Given the description of an element on the screen output the (x, y) to click on. 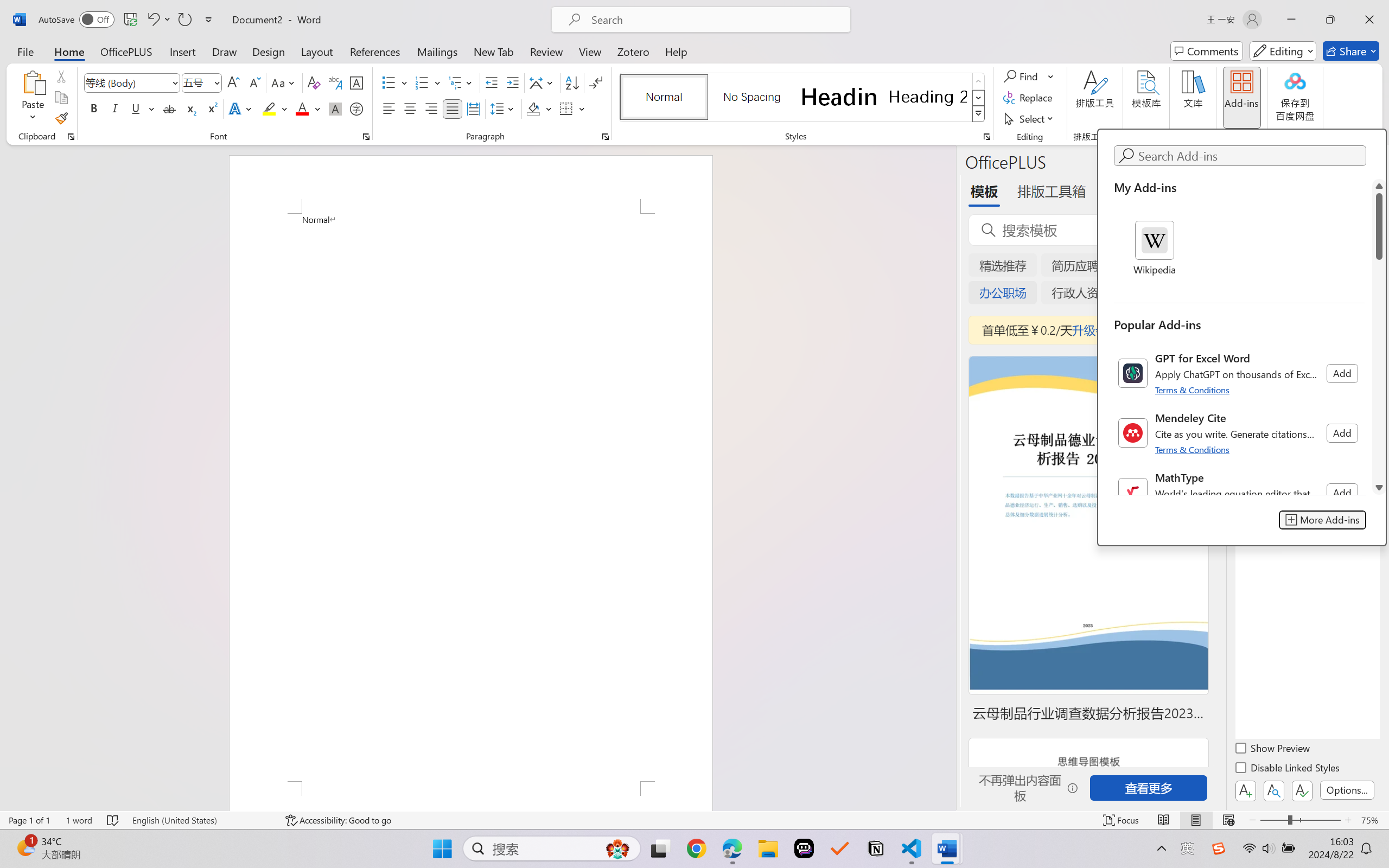
Save (130, 19)
Home (69, 51)
Read Mode (1163, 819)
Restore Down (1330, 19)
Notion (875, 848)
Styles (978, 113)
Close (1369, 19)
Enclose Characters... (356, 108)
Mendeley Cite (1239, 432)
Zotero (632, 51)
Office Clipboard... (70, 136)
Draw (224, 51)
